Given the description of an element on the screen output the (x, y) to click on. 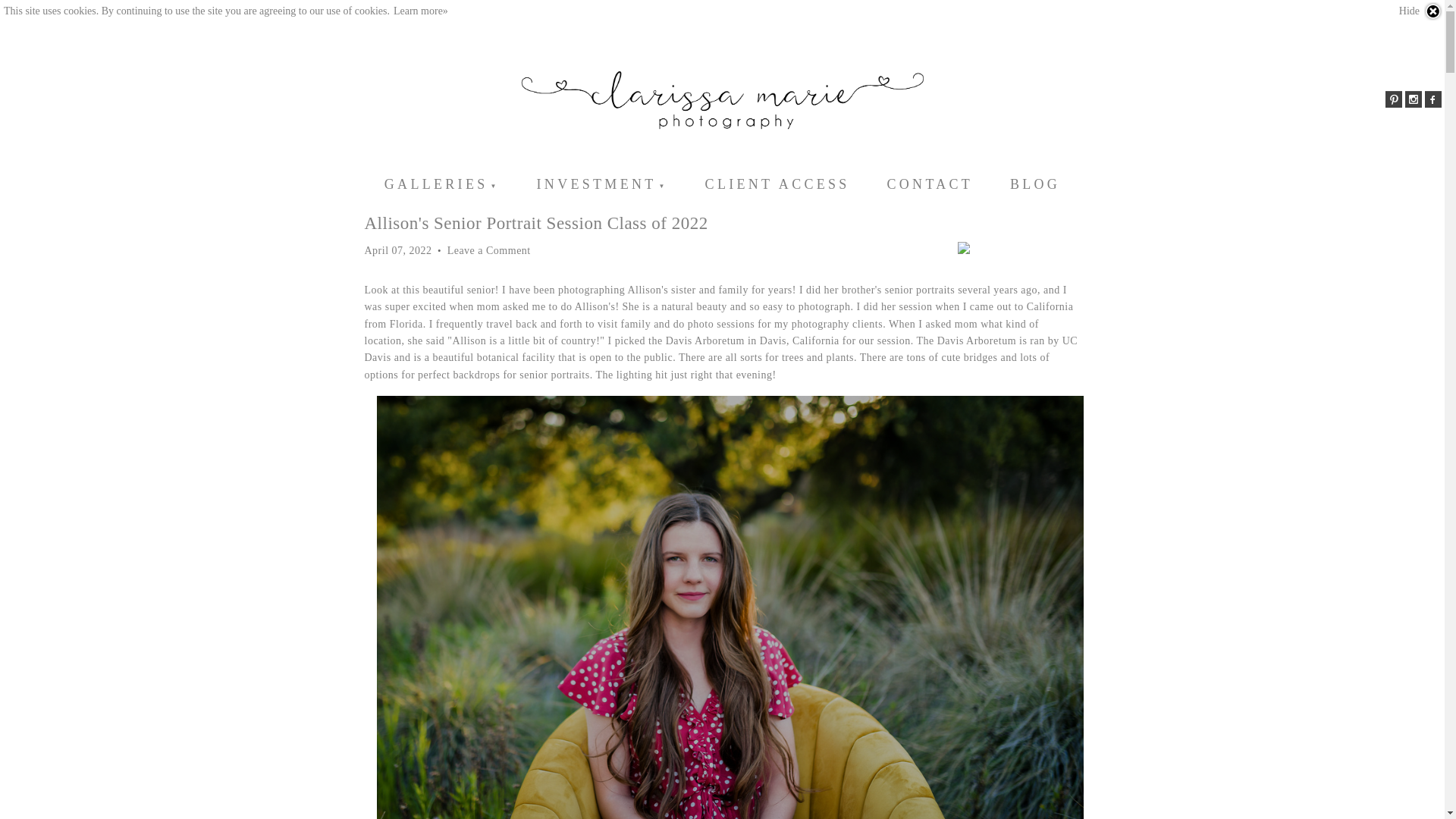
Clarissa Marie Photography (722, 99)
CONTACT (929, 183)
Hide (1420, 11)
CLIENT ACCESS (777, 183)
